Given the description of an element on the screen output the (x, y) to click on. 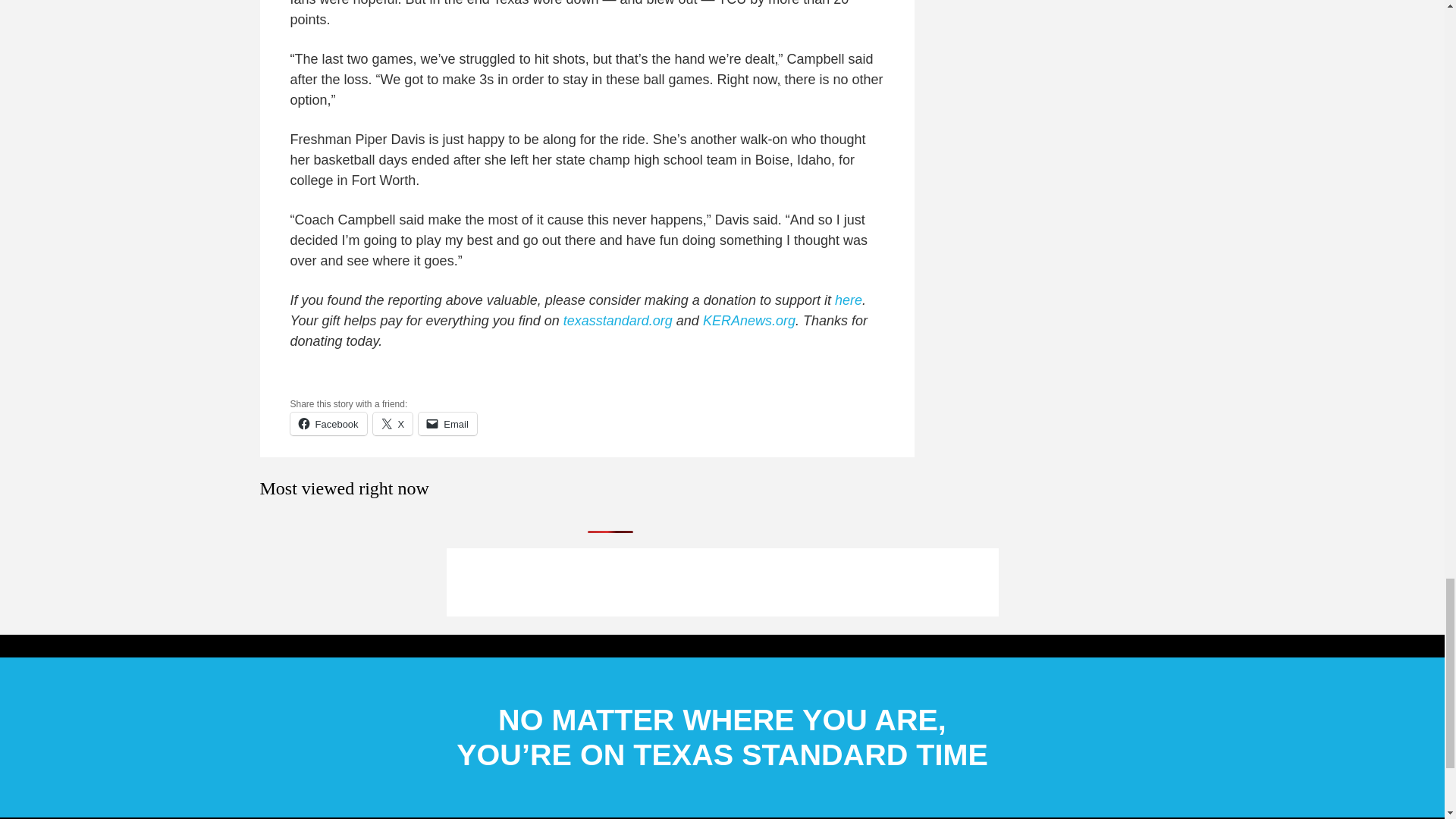
Click to share on X (392, 423)
Click to share on Facebook (327, 423)
Click to email a link to a friend (448, 423)
